Given the description of an element on the screen output the (x, y) to click on. 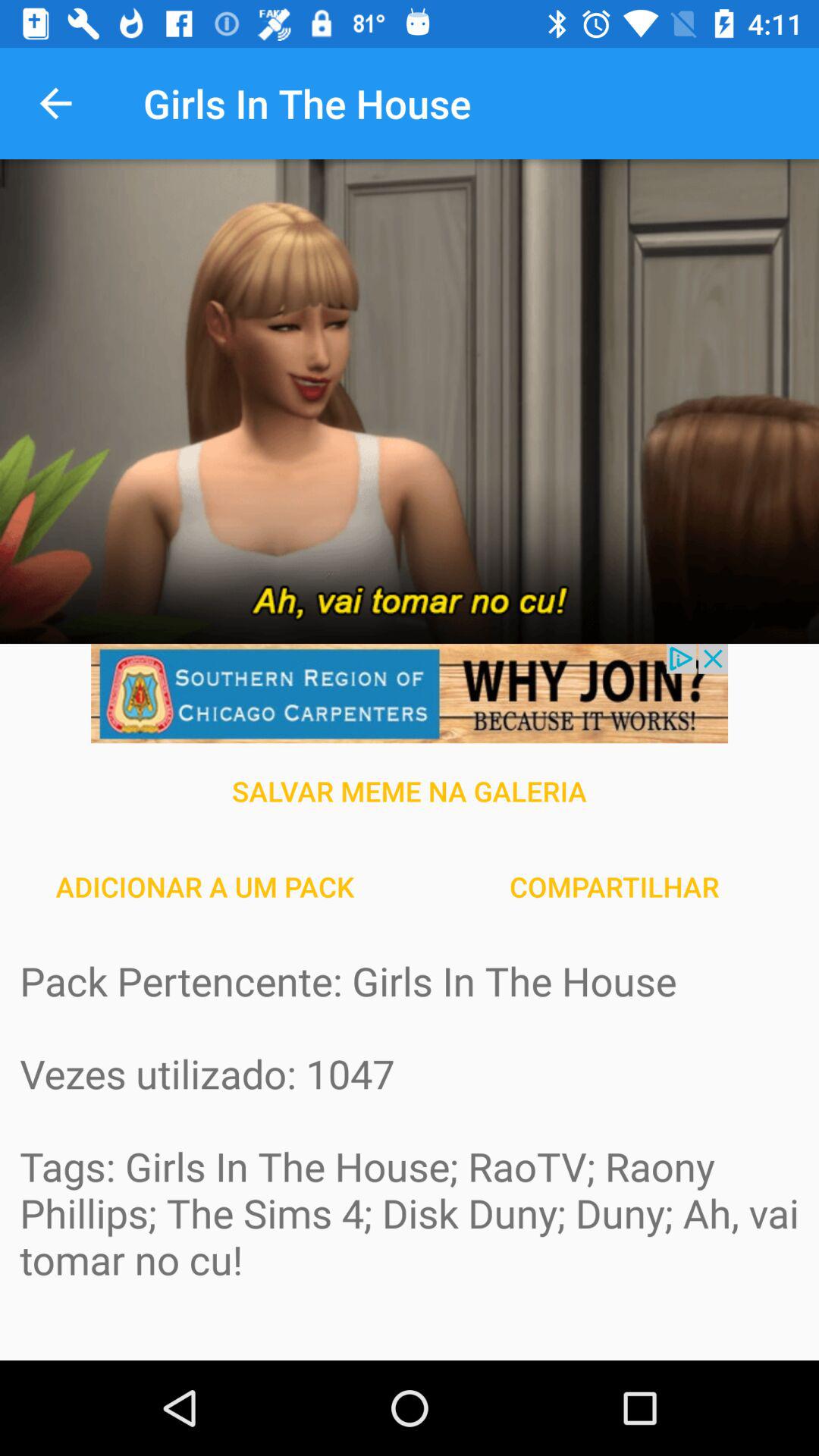
details about advertisement (409, 693)
